Given the description of an element on the screen output the (x, y) to click on. 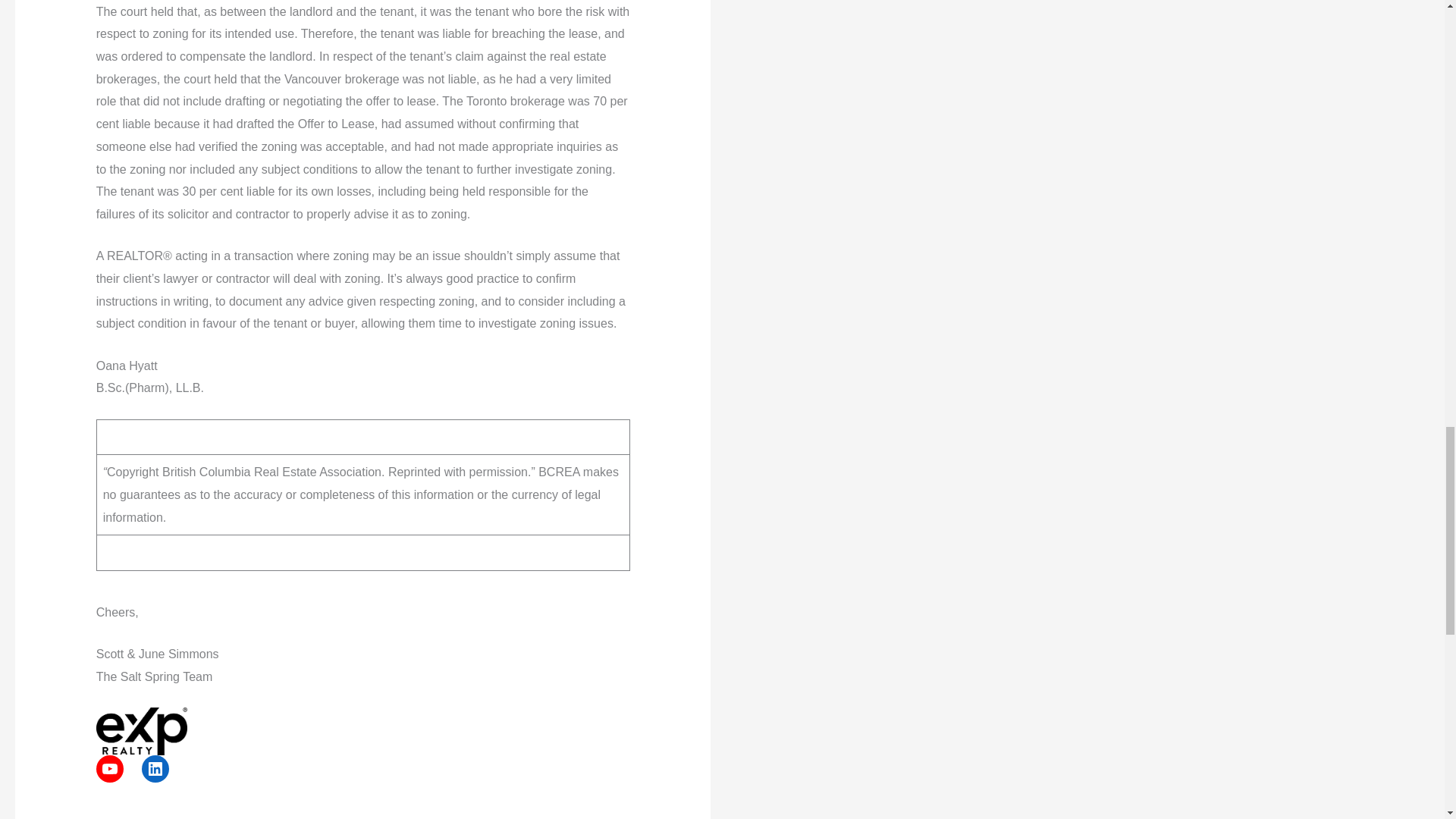
LinkedIn (154, 768)
YouTube (109, 768)
